Given the description of an element on the screen output the (x, y) to click on. 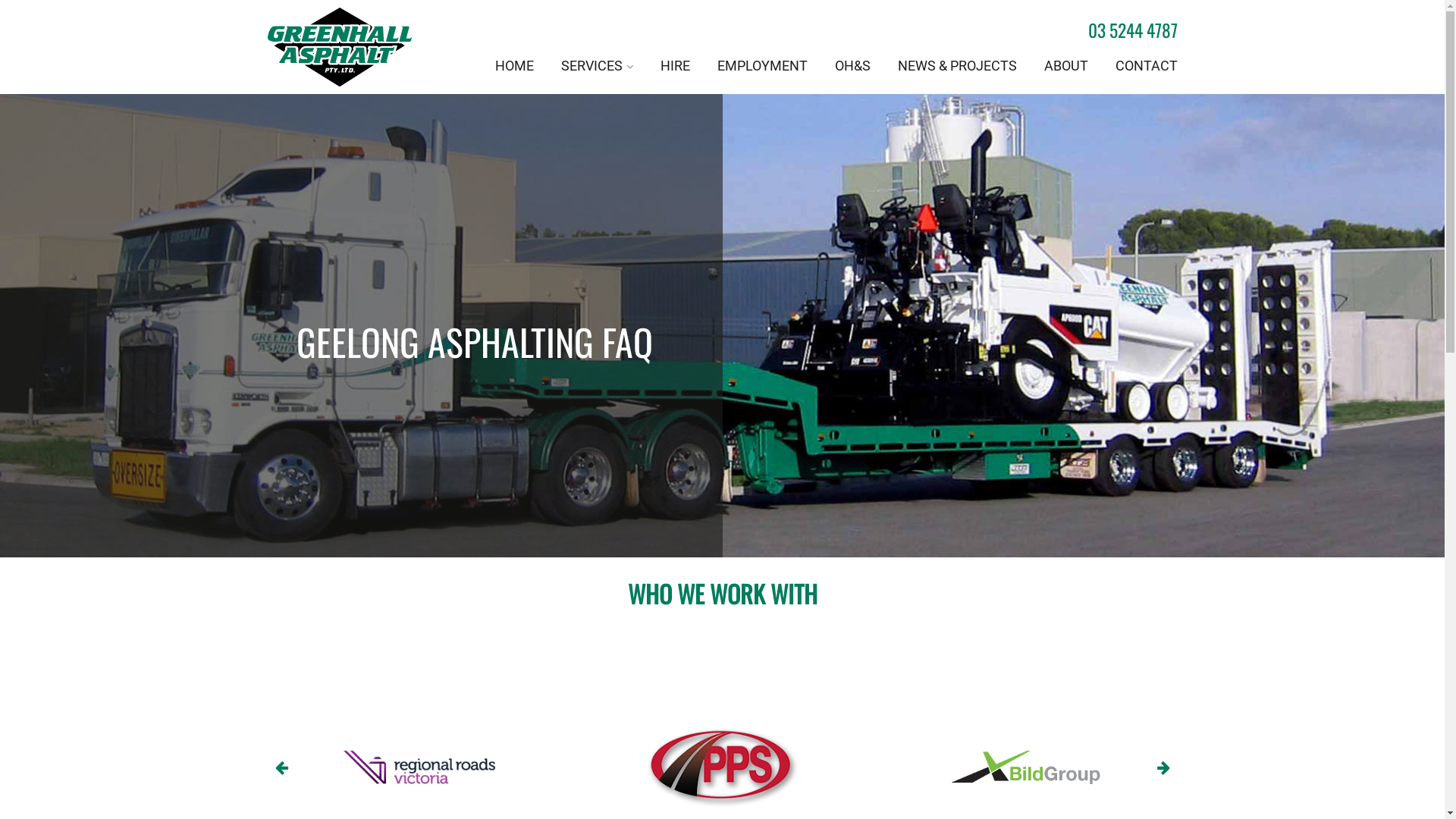
CONTACT Element type: text (1145, 66)
NEWS & PROJECTS Element type: text (956, 66)
HOME Element type: text (513, 66)
OH&S Element type: text (851, 66)
HIRE Element type: text (674, 66)
EMPLOYMENT Element type: text (762, 66)
SERVICES Element type: text (597, 66)
ABOUT Element type: text (1065, 66)
